Given the description of an element on the screen output the (x, y) to click on. 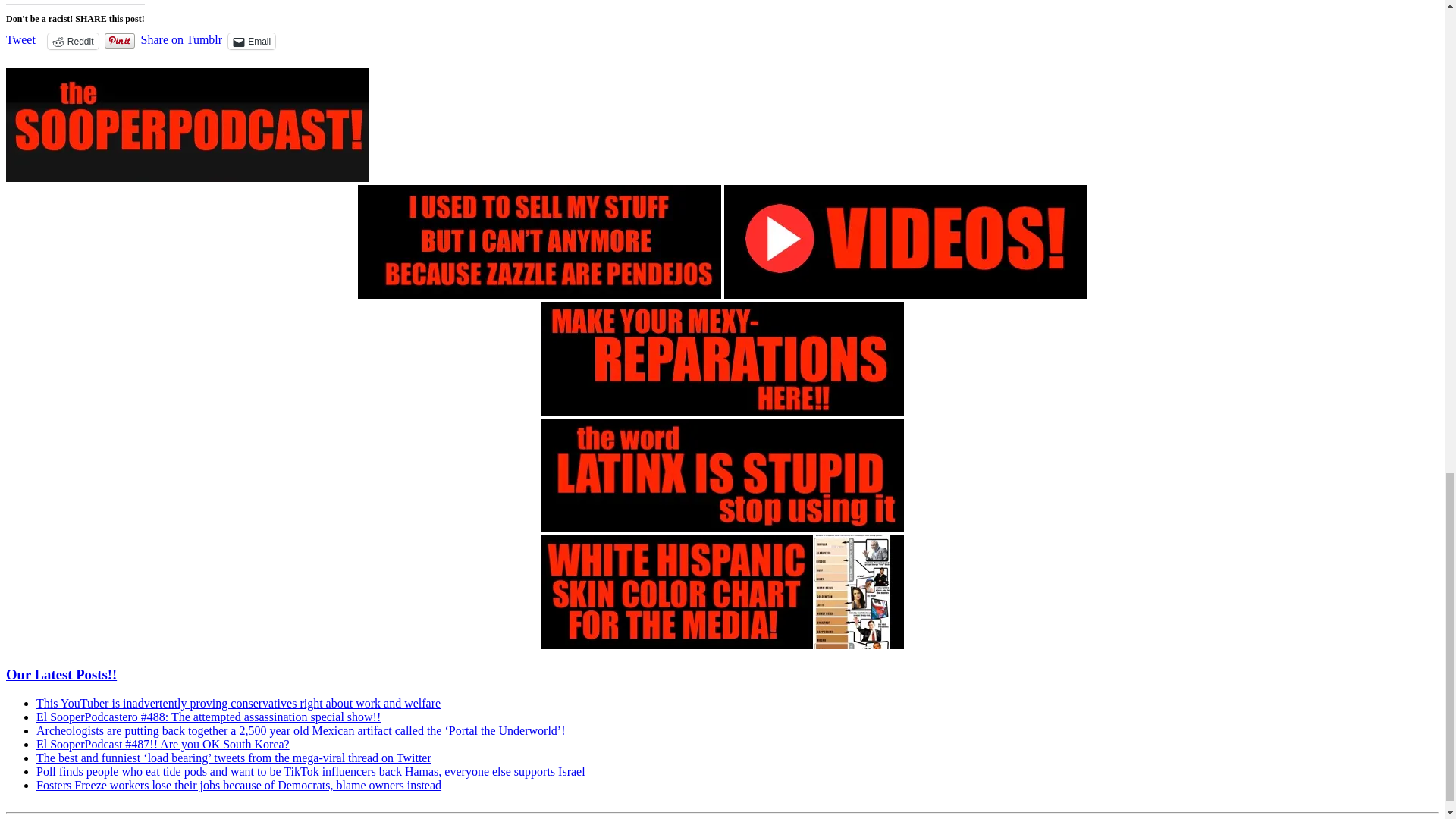
Click to email a link to a friend (251, 41)
Tweet (19, 39)
Email (251, 41)
Share on Tumblr (181, 39)
Share on Tumblr (181, 39)
Click to share on Reddit (73, 41)
Reddit (73, 41)
